Given the description of an element on the screen output the (x, y) to click on. 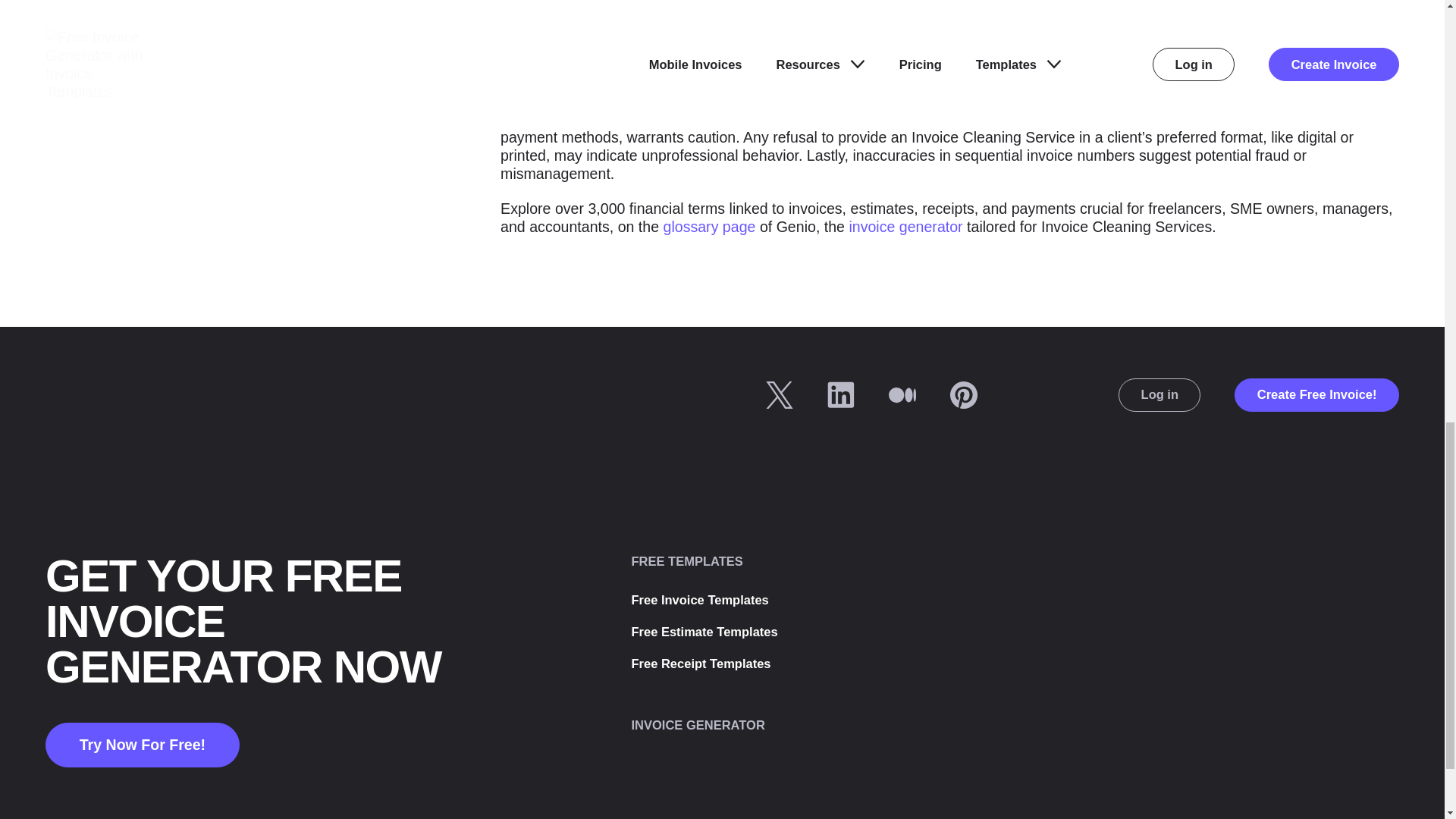
glossary page (709, 226)
